Given the description of an element on the screen output the (x, y) to click on. 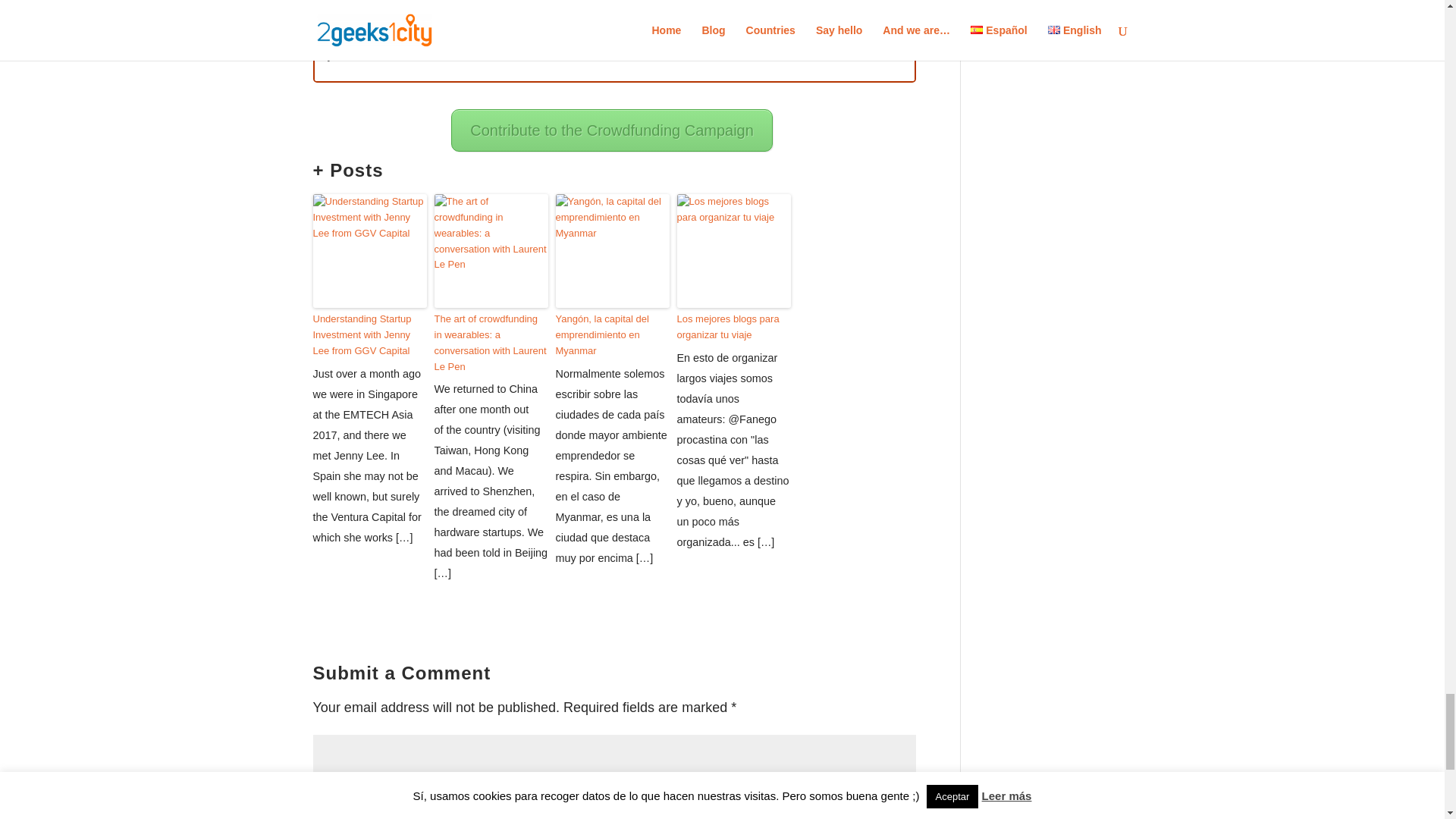
Contribute to the Crowdfunding Campaign (612, 129)
